Given the description of an element on the screen output the (x, y) to click on. 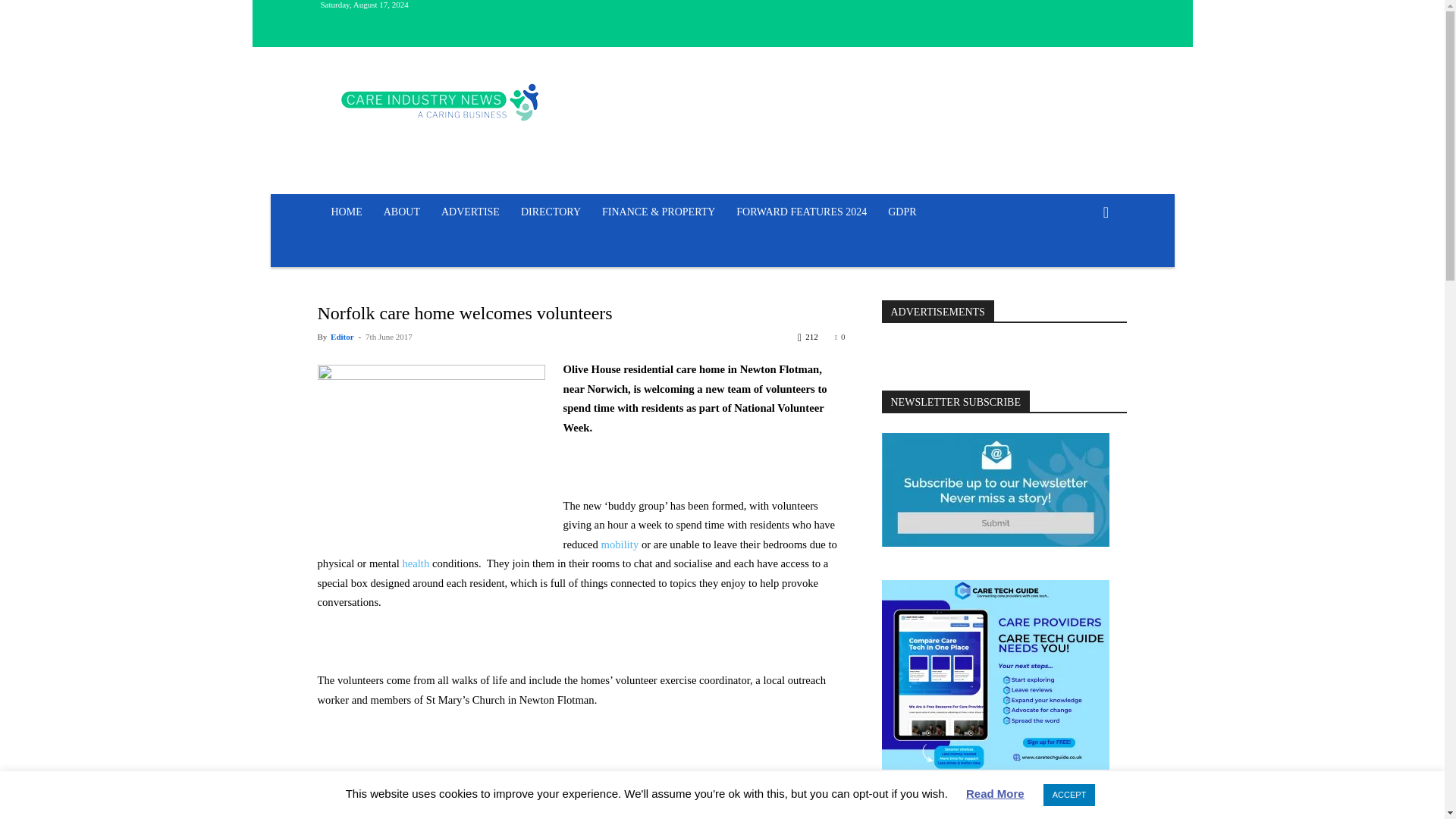
ADVERTISE (470, 212)
mobility (620, 544)
DIRECTORY (551, 212)
Editor (341, 336)
HOME (346, 212)
reviews (385, 814)
GDPR (901, 212)
0 (839, 336)
ABOUT (401, 212)
FORWARD FEATURES 2024 (801, 212)
